Given the description of an element on the screen output the (x, y) to click on. 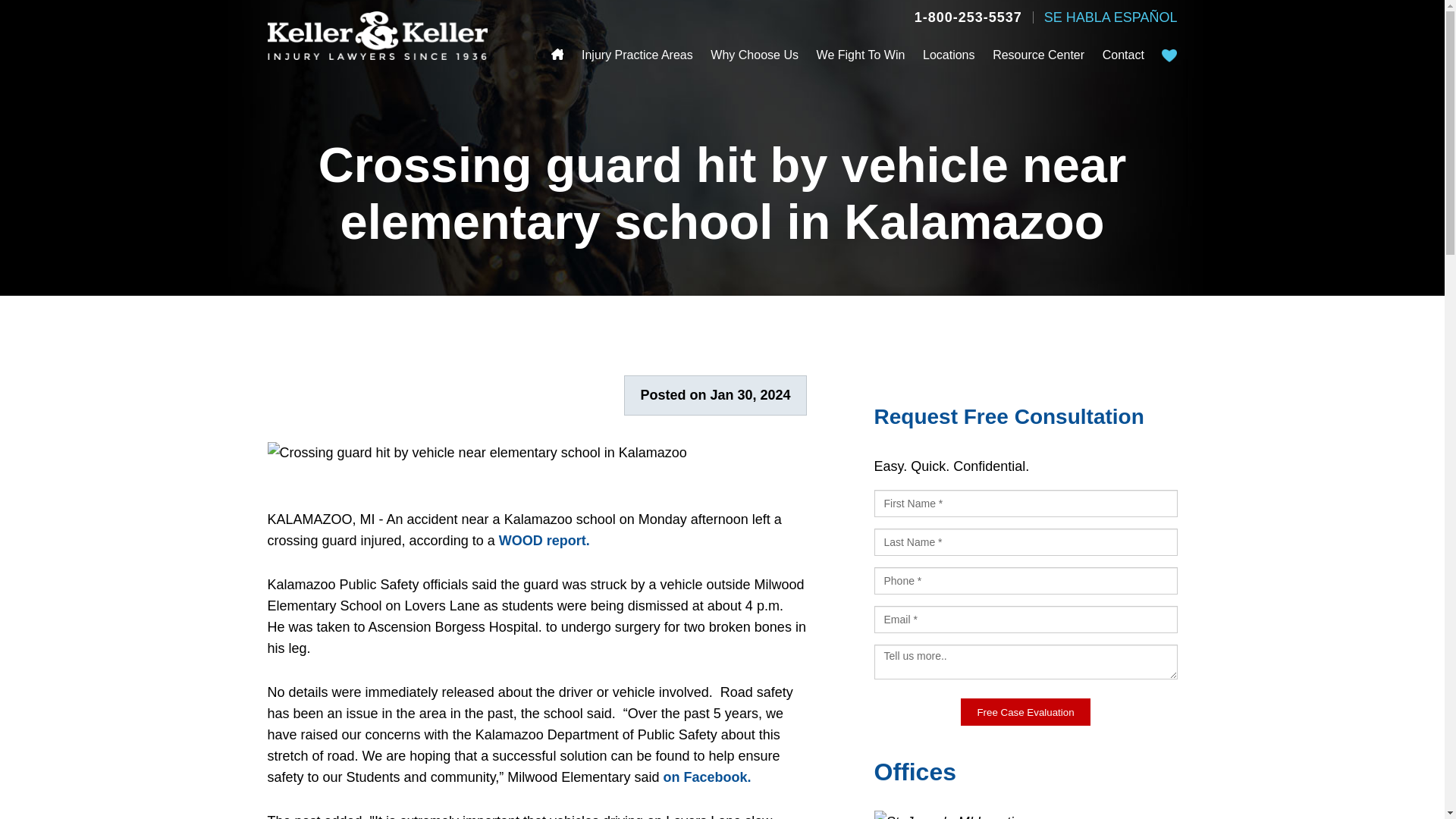
We Fight To Win (860, 55)
Why Choose Us (753, 55)
Locations (949, 55)
Injury Practice Areas (636, 55)
1-800-253-5537 (968, 17)
